Given the description of an element on the screen output the (x, y) to click on. 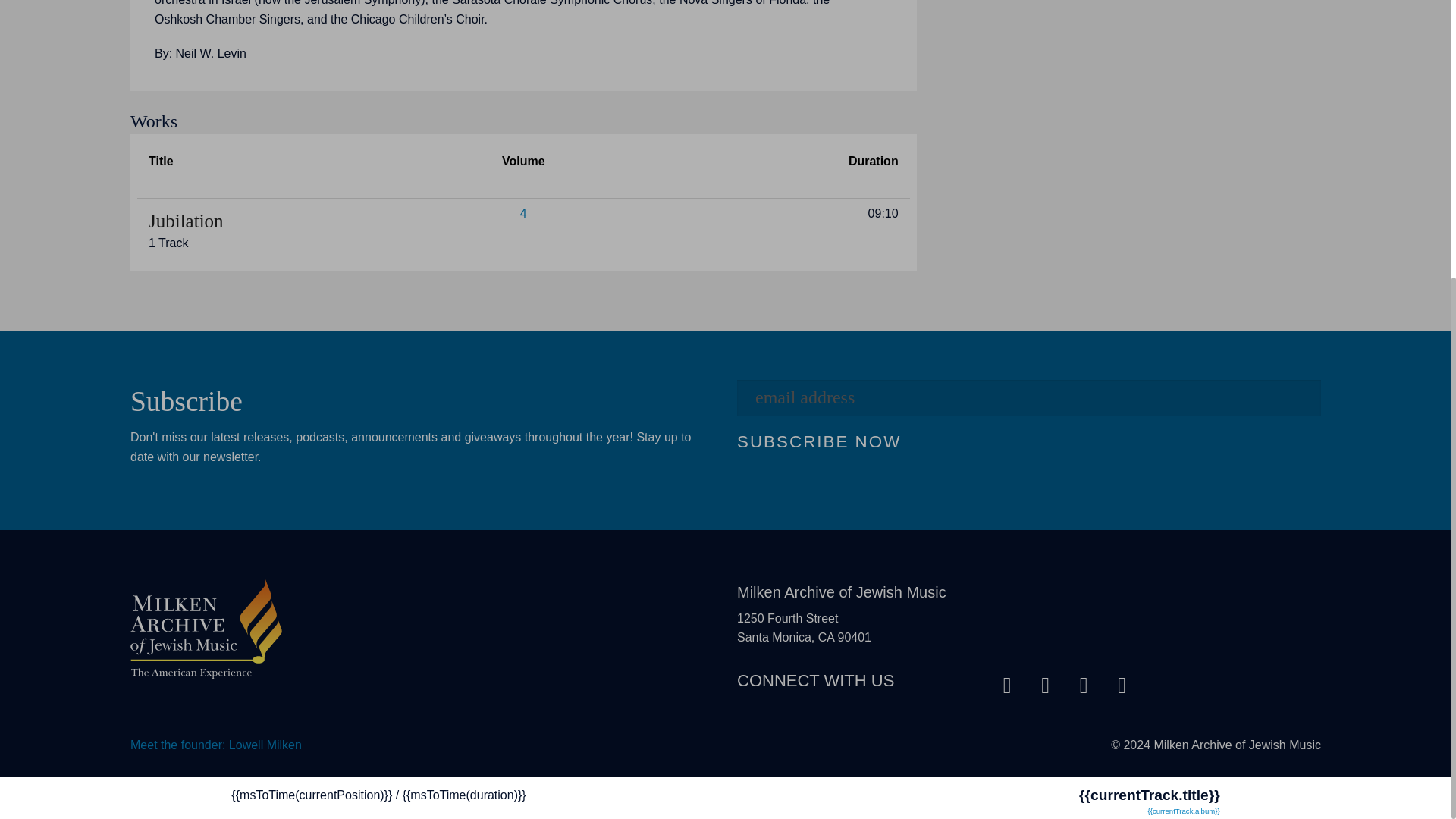
Subscribe now (818, 442)
